Given the description of an element on the screen output the (x, y) to click on. 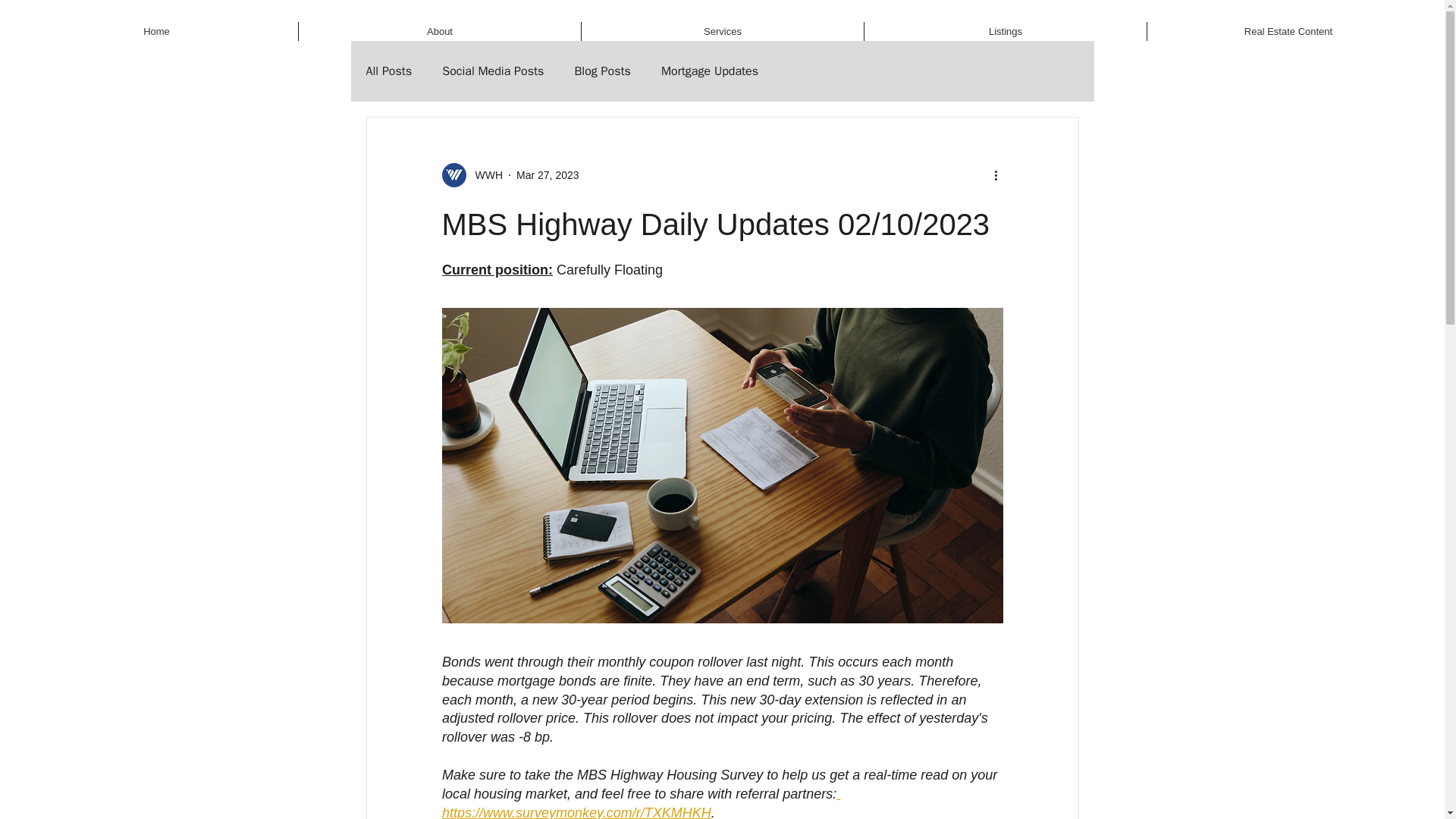
Mortgage Updates (709, 71)
Listings (1005, 31)
All Posts (388, 71)
Log In (1247, 14)
WWH (483, 174)
Blog Posts (601, 71)
Real Estate Content (1288, 31)
Social Media Posts (492, 71)
About (439, 31)
Mar 27, 2023 (547, 174)
WWH (471, 174)
Home (156, 31)
